Given the description of an element on the screen output the (x, y) to click on. 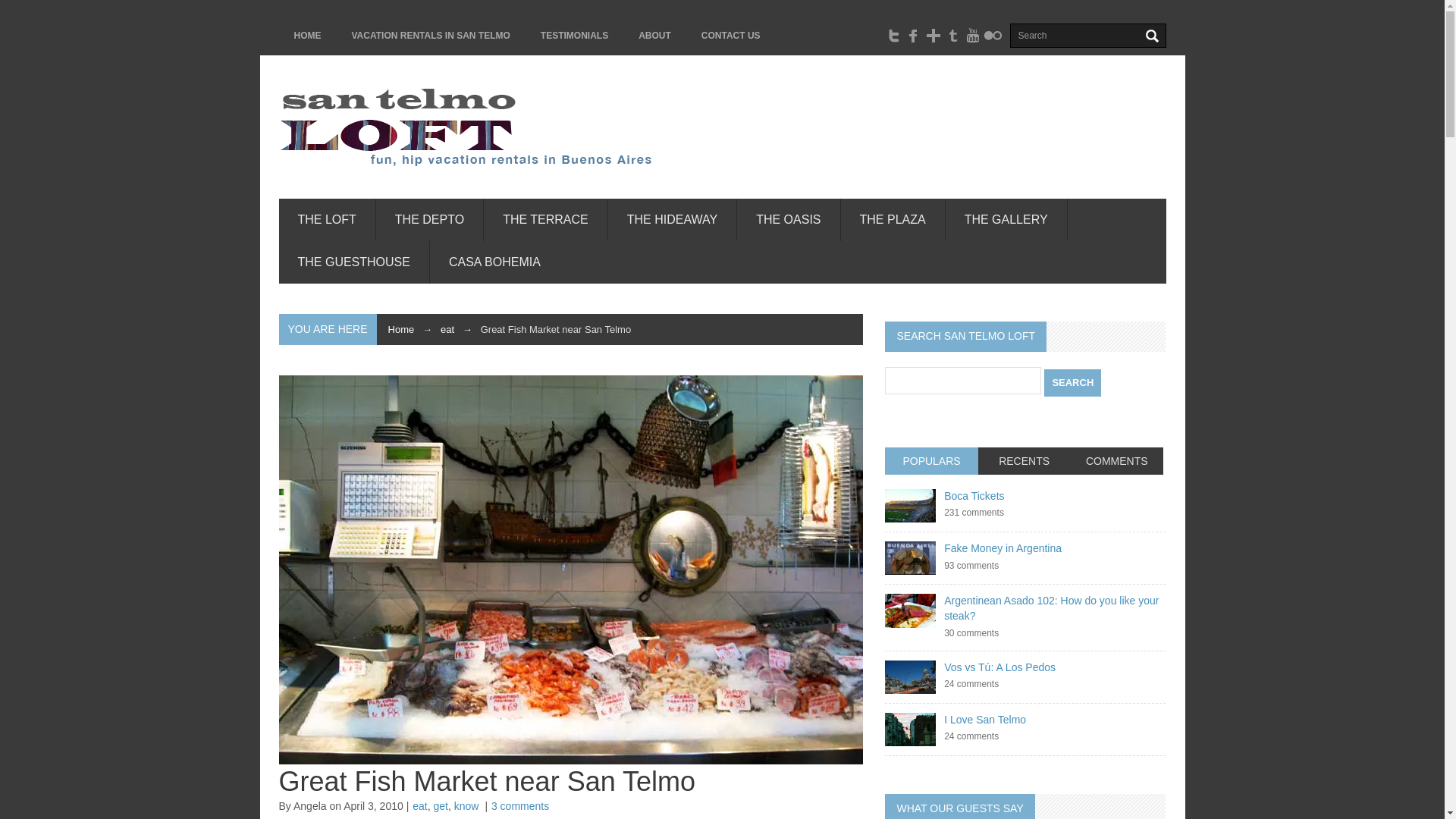
THE GUESTHOUSE (354, 261)
THE PLAZA (892, 219)
VACATION RENTALS IN SAN TELMO (430, 35)
CASA BOHEMIA (494, 261)
ABOUT (654, 35)
2010-04-03 (376, 806)
THE OASIS (788, 219)
eat (419, 806)
THE DEPTO (429, 219)
THE HIDEAWAY (672, 219)
Home (401, 328)
know (466, 806)
THE LOFT (327, 219)
THE GALLERY (1005, 219)
3 comments (520, 806)
